Given the description of an element on the screen output the (x, y) to click on. 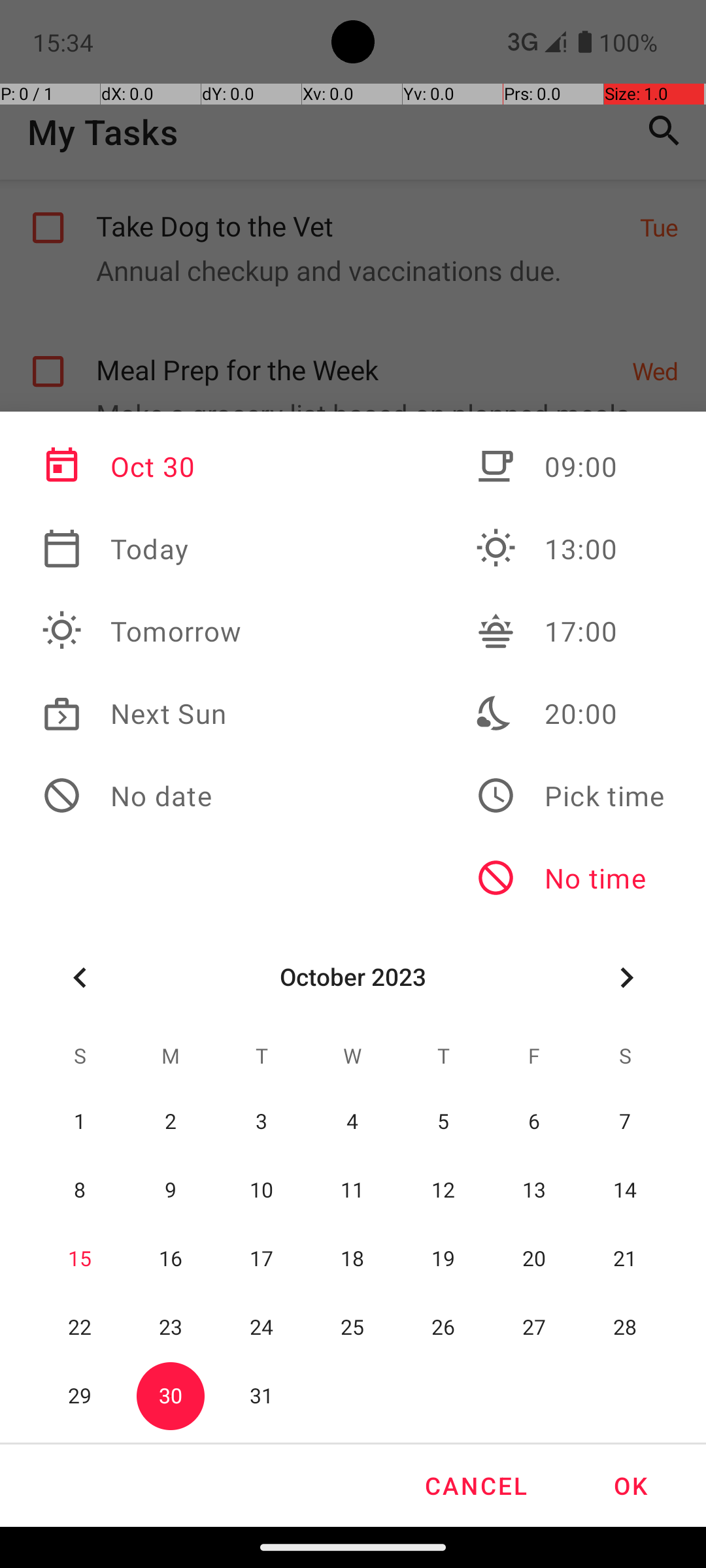
Oct 30 Element type: android.widget.CompoundButton (141, 466)
Tomorrow Element type: android.widget.CompoundButton (141, 630)
Next Sun Element type: android.widget.CompoundButton (141, 713)
No date Element type: android.widget.CompoundButton (141, 795)
20:00 Element type: android.widget.CompoundButton (569, 713)
No time Element type: android.widget.CompoundButton (569, 877)
